Given the description of an element on the screen output the (x, y) to click on. 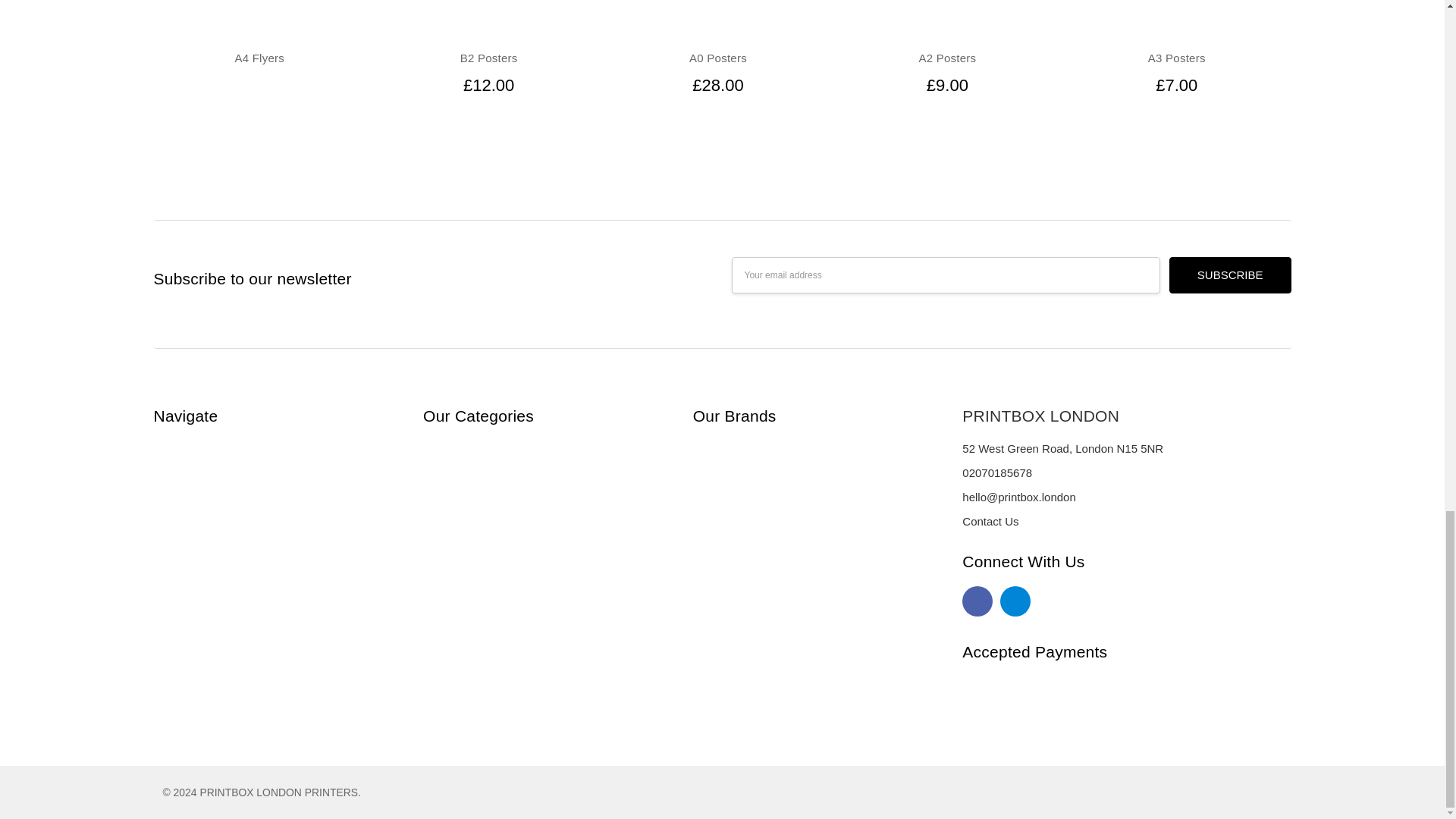
Subscribe (1230, 275)
A3 Posters - PRINTBOX LONDON (1175, 18)
A4 Flyers Printing by PRINTBOX LONDON (258, 18)
A0 Posters - PRINTBOX LONDON (716, 18)
A2 Posters - PRINTBOX London (946, 18)
B2 Posters printing Printbox London (488, 18)
